Given the description of an element on the screen output the (x, y) to click on. 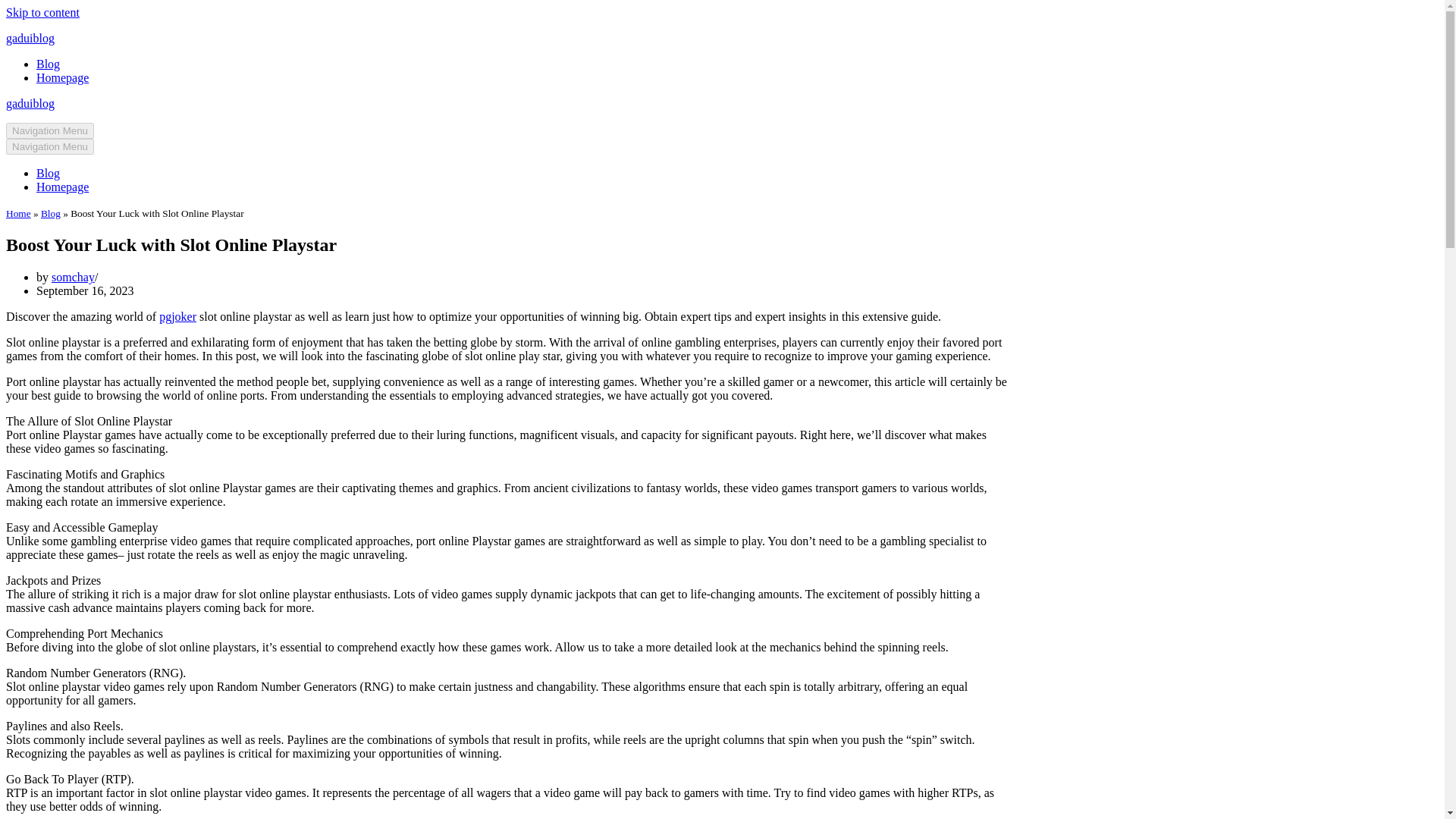
pgjoker (475, 292)
rih71471 (957, 685)
mhv09371 (962, 630)
Skip to content (11, 31)
Home (303, 111)
Is the Online Casino Site Real or Simply a Mirage? (1036, 752)
rqx03734 (959, 741)
Blog (340, 111)
Is the Online Casino Site Real or Simply a Mirage? (1037, 805)
Is the Online Casino Site Real or Simply a Mirage? (1035, 585)
